Given the description of an element on the screen output the (x, y) to click on. 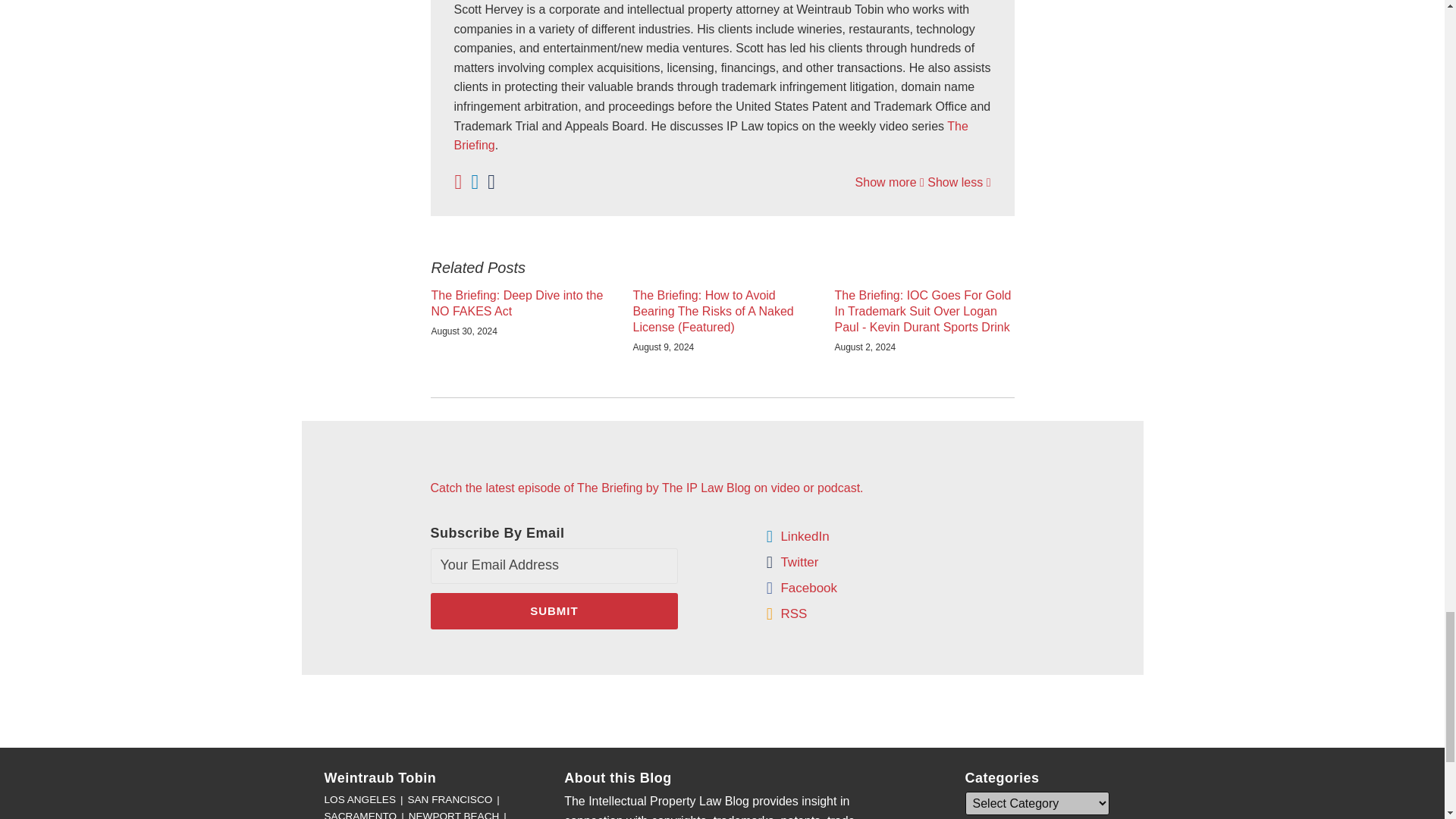
Show less (958, 182)
Submit (554, 610)
The Briefing: Deep Dive into the NO FAKES Act (520, 304)
Show more (890, 182)
The Briefing (710, 135)
